Given the description of an element on the screen output the (x, y) to click on. 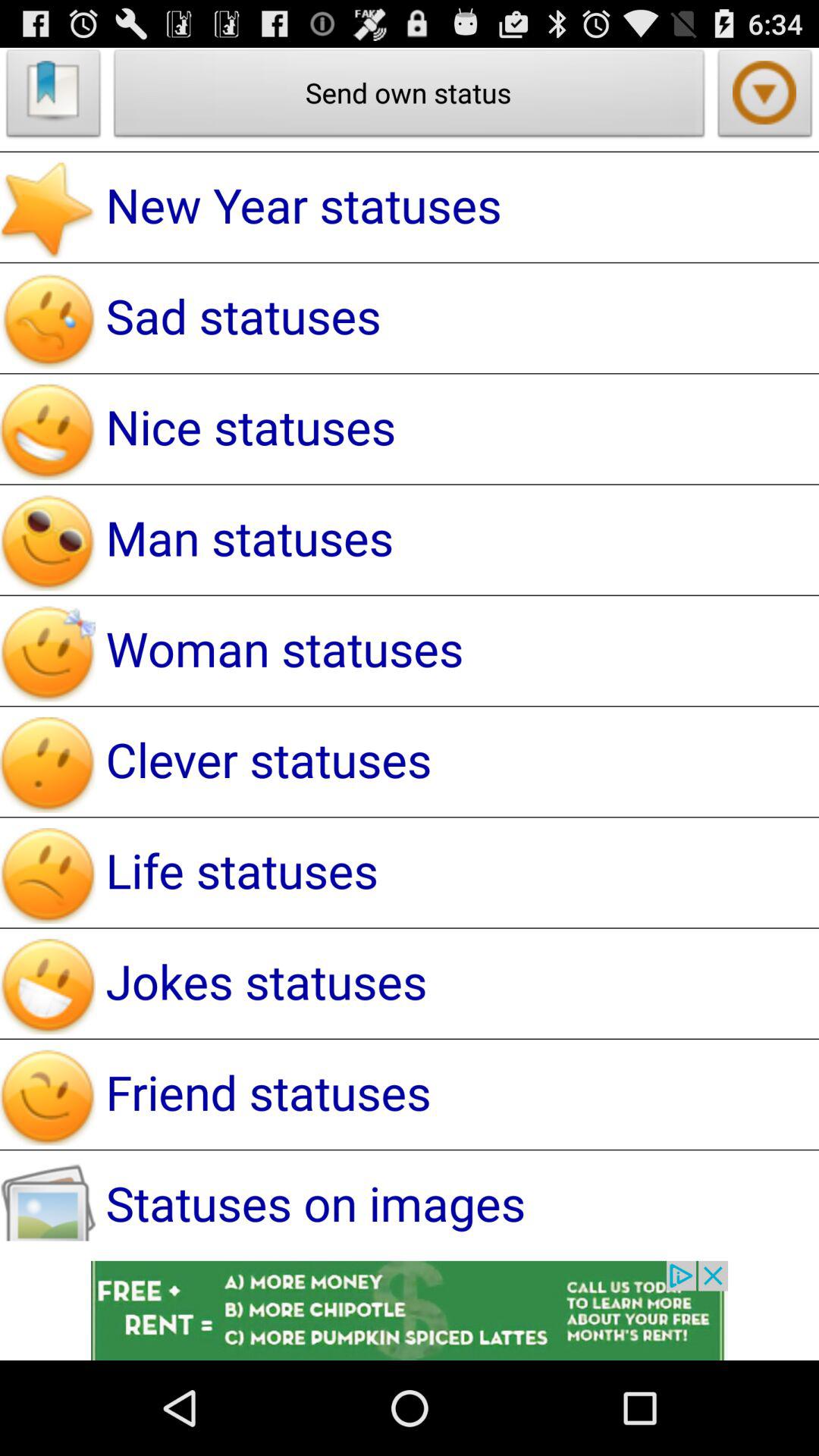
click on play symbol which is below 634 (765, 97)
